Given the description of an element on the screen output the (x, y) to click on. 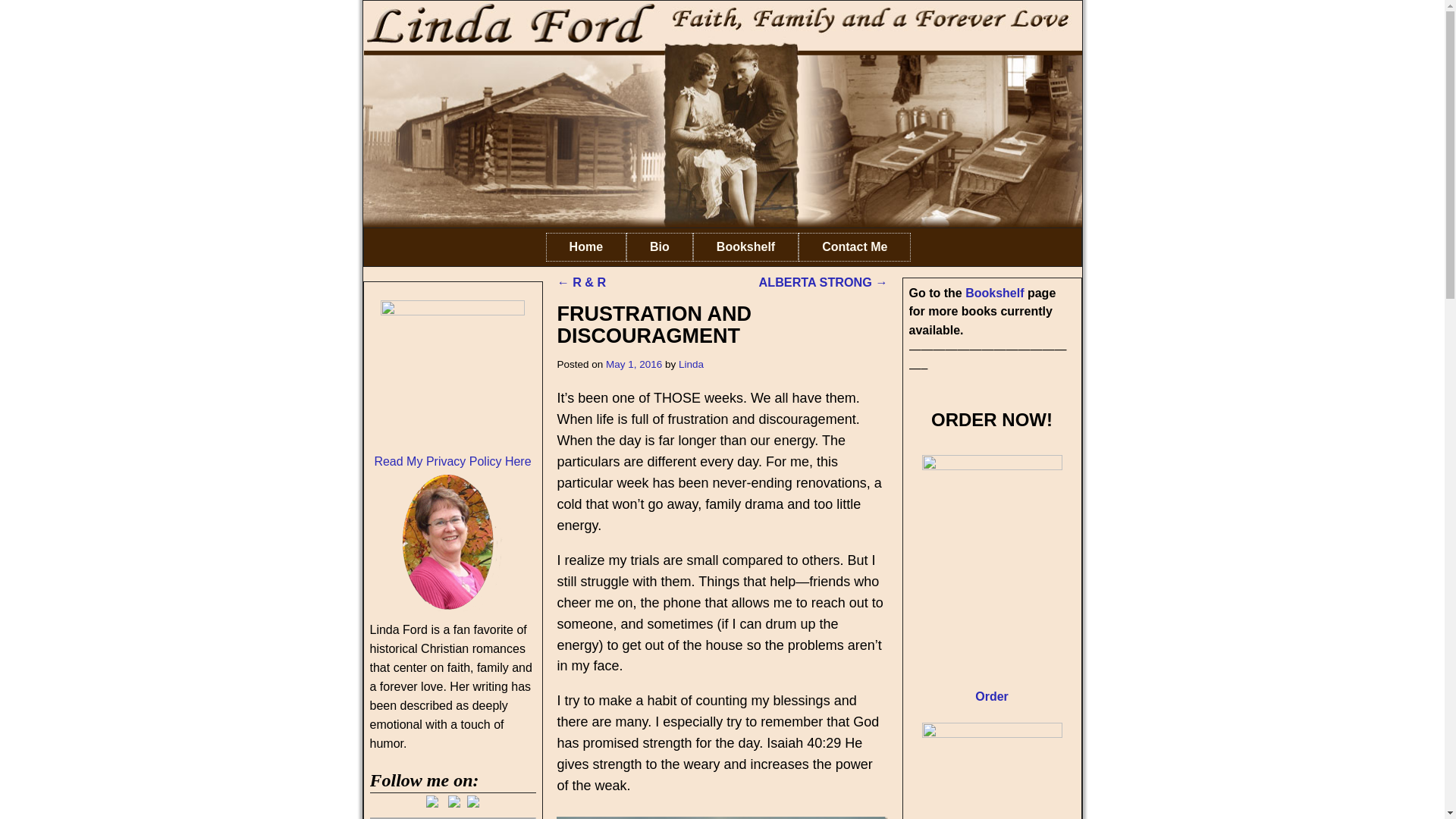
Read My Privacy Policy Here (452, 461)
May 1, 2016 (633, 364)
12:00 am (633, 364)
Bookshelf (994, 292)
Order (992, 696)
Linda (690, 364)
View all posts by Linda (690, 364)
Home (586, 246)
Bio (659, 246)
